Given the description of an element on the screen output the (x, y) to click on. 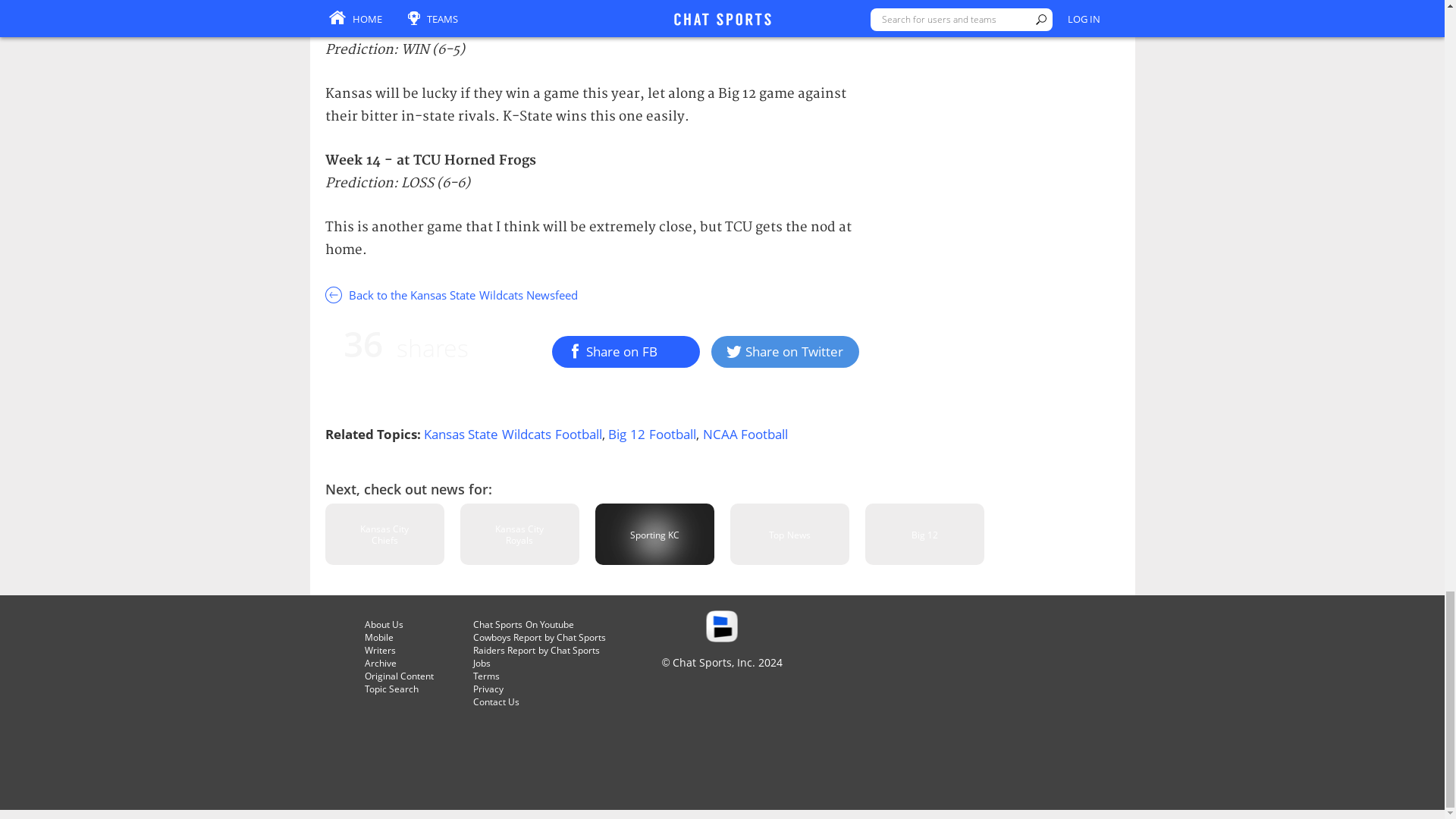
Sporting KC (654, 534)
Big 12 Football (651, 434)
Share on Twitter (785, 351)
Kansas City Chiefs (384, 534)
Big 12 (924, 534)
Back to the Kansas State Wildcats Newsfeed (600, 294)
Share on FB (625, 351)
Kansas City Royals (519, 534)
Top News (789, 534)
NCAA Football (746, 434)
